Given the description of an element on the screen output the (x, y) to click on. 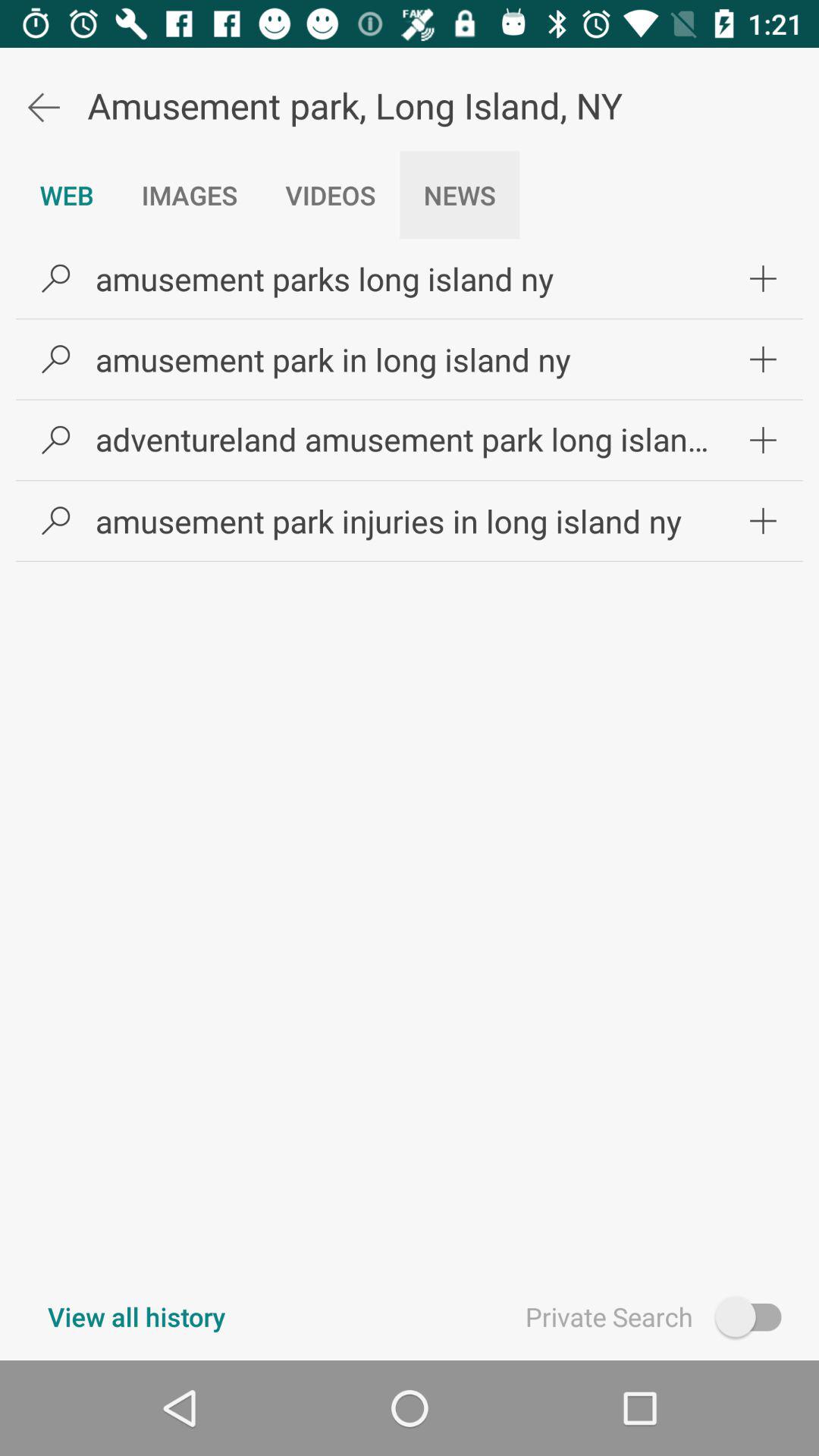
select icon on the right (763, 520)
